Given the description of an element on the screen output the (x, y) to click on. 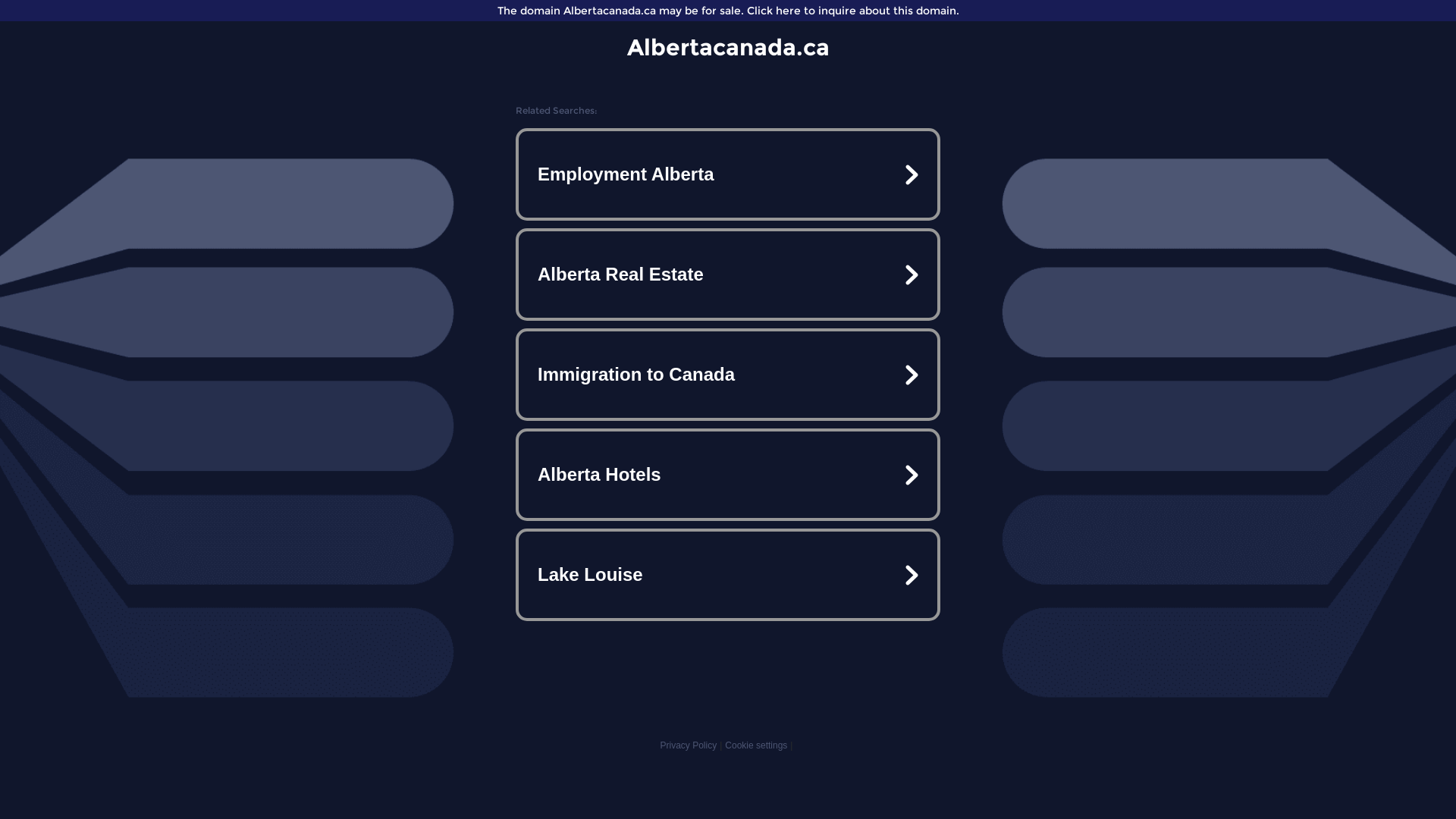
Cookie settings Element type: text (755, 745)
Albertacanada.ca Element type: text (727, 47)
Privacy Policy Element type: text (687, 745)
Lake Louise Element type: text (727, 574)
Alberta Hotels Element type: text (727, 474)
Alberta Real Estate Element type: text (727, 274)
Immigration to Canada Element type: text (727, 374)
Employment Alberta Element type: text (727, 174)
